Given the description of an element on the screen output the (x, y) to click on. 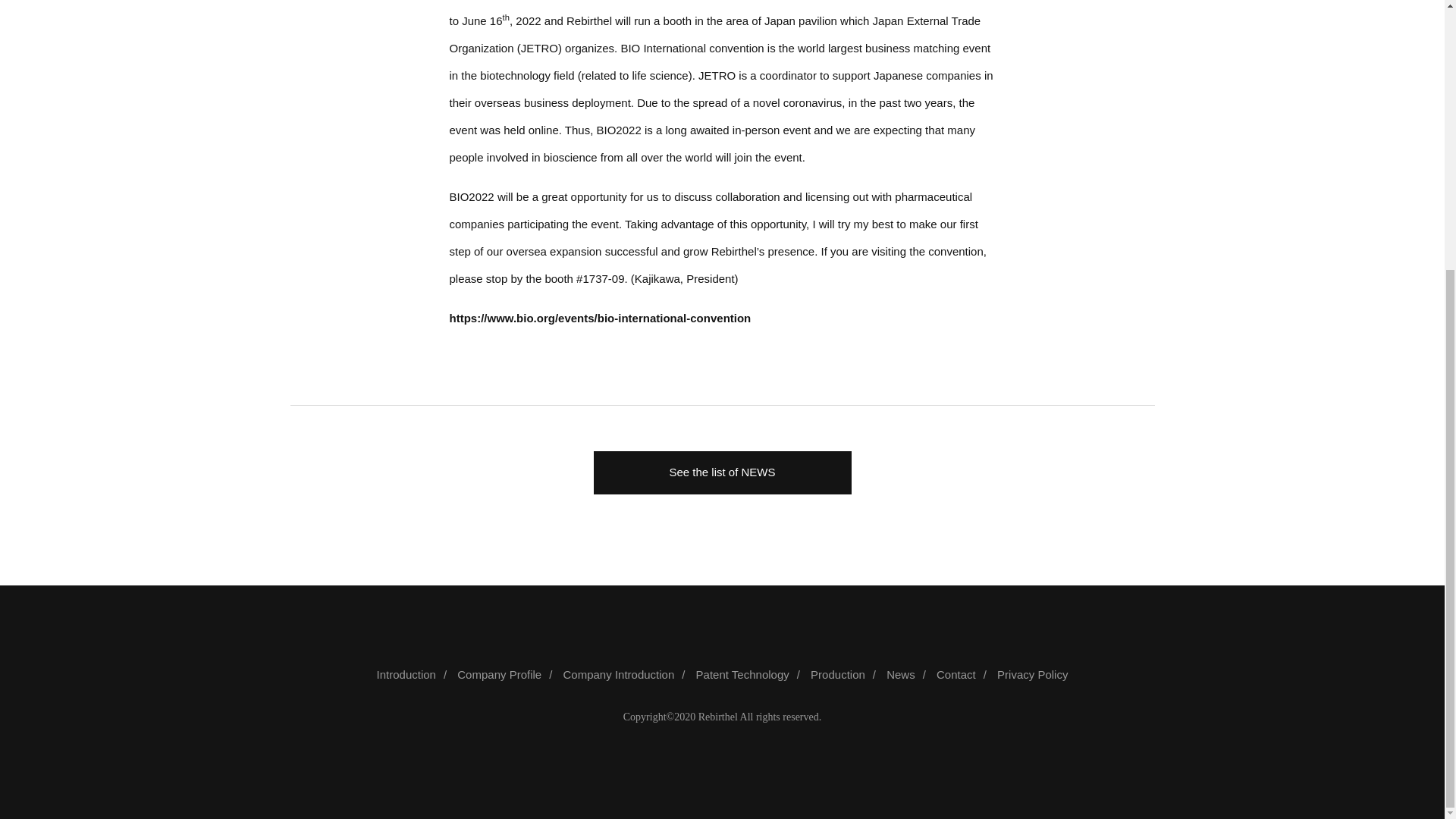
Company Introduction (628, 674)
Company Profile (508, 674)
Privacy Policy (1032, 674)
See the list of NEWS (721, 472)
Patent Technology (751, 674)
Contact (965, 674)
Production (846, 674)
Introduction (415, 674)
News (909, 674)
